Given the description of an element on the screen output the (x, y) to click on. 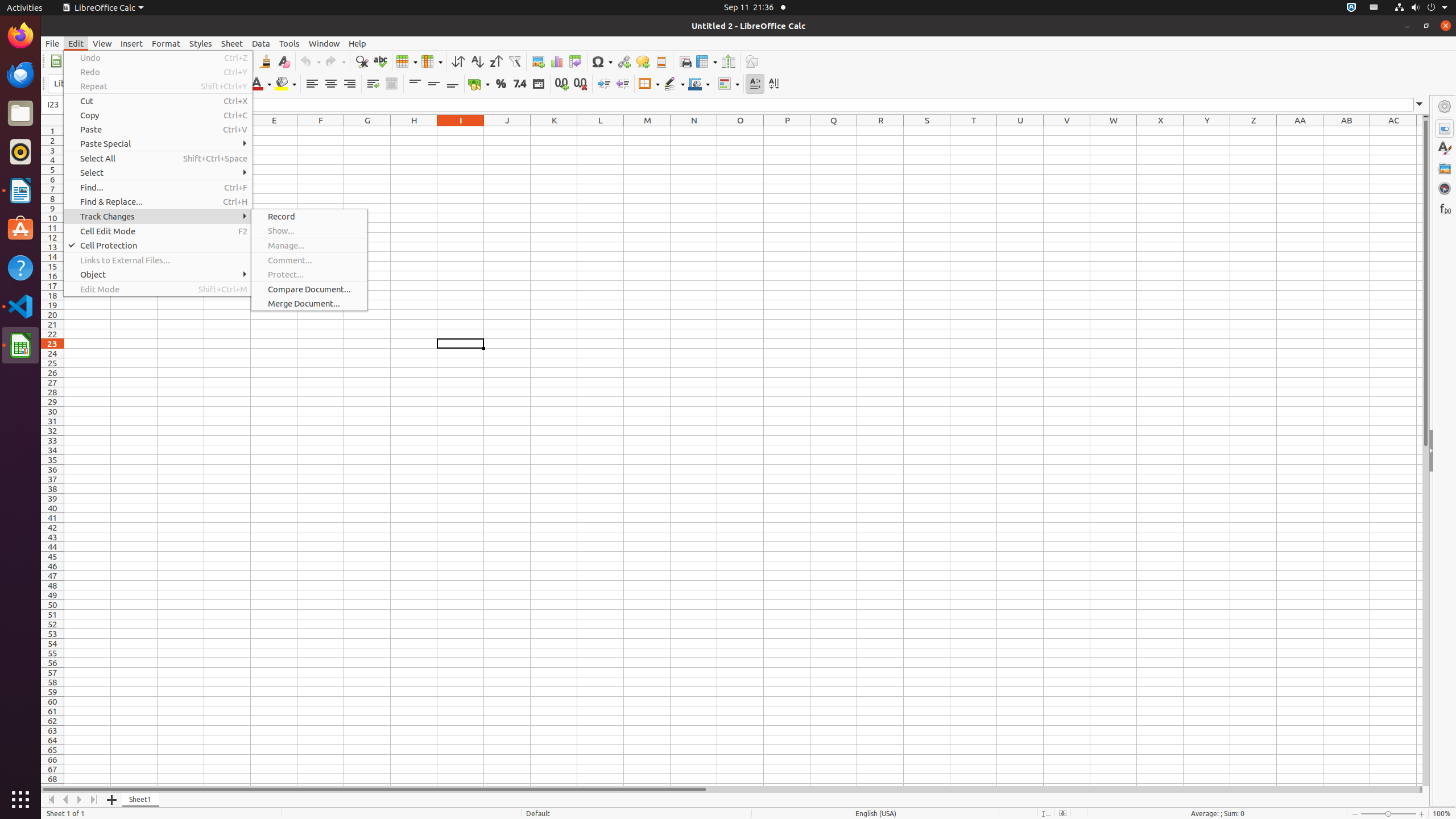
F1 Element type: table-cell (320, 130)
Copy Element type: menu-item (157, 115)
AC1 Element type: table-cell (1393, 130)
Image Element type: push-button (537, 61)
Wrap Text Element type: push-button (372, 83)
